Given the description of an element on the screen output the (x, y) to click on. 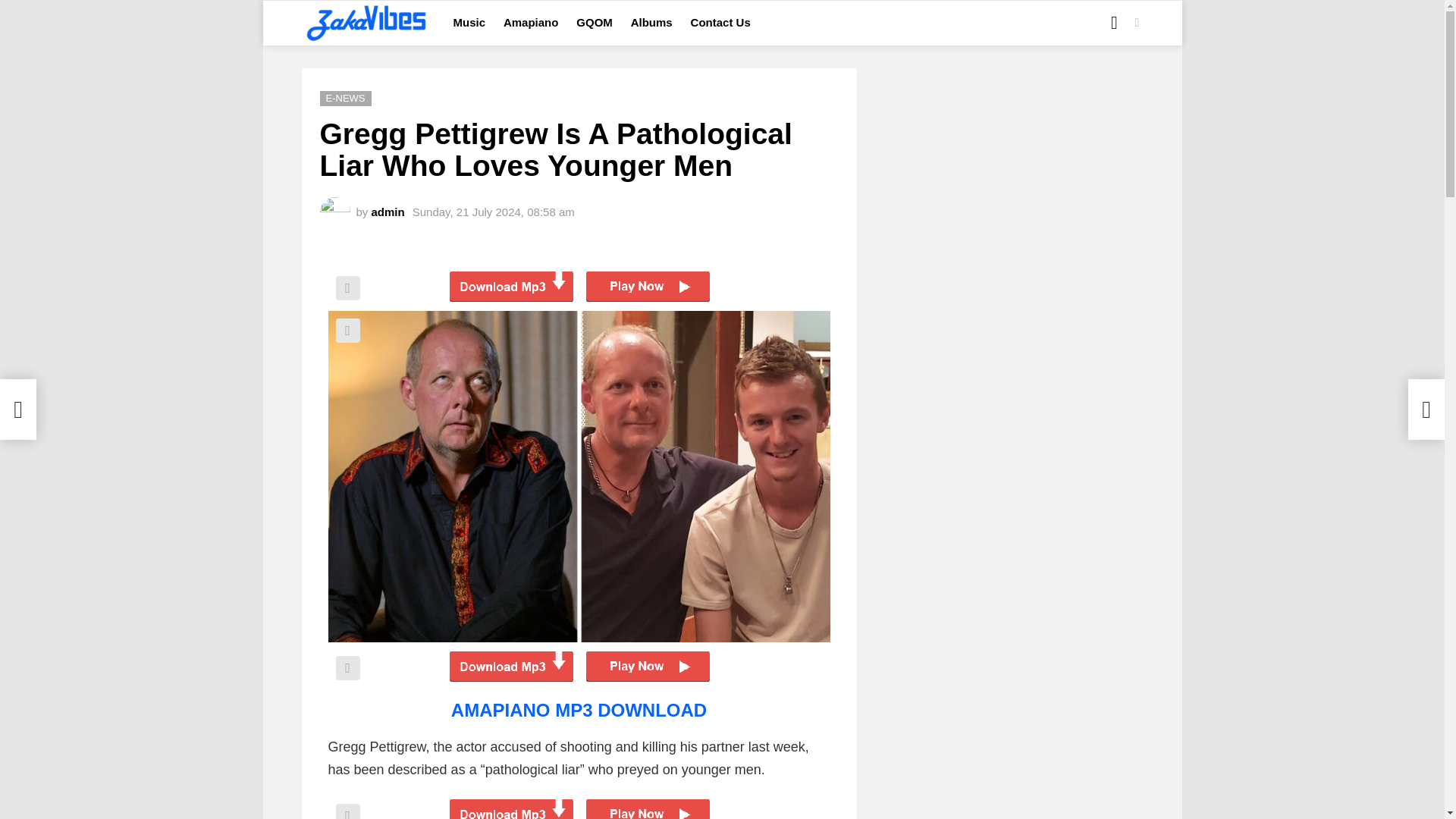
AMAPIANO MP3 DOWNLOAD (578, 710)
Music (469, 22)
E-NEWS (345, 98)
GQOM (594, 22)
Contact Us (720, 22)
Amapiano (531, 22)
admin (387, 210)
Share (346, 668)
Posts by admin (387, 210)
Share (346, 330)
Share (346, 288)
Albums (651, 22)
Share (346, 811)
